Given the description of an element on the screen output the (x, y) to click on. 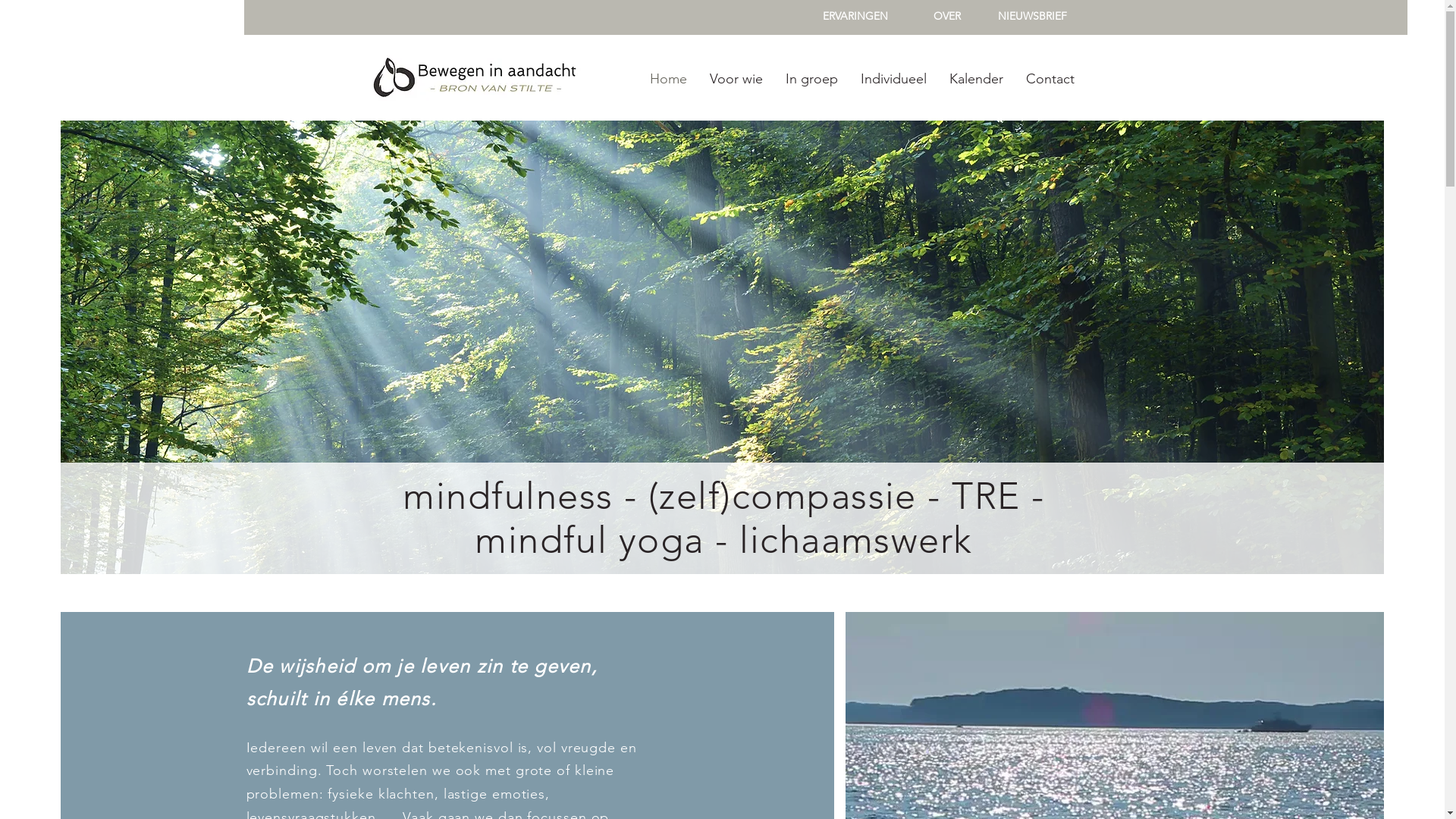
Kalender Element type: text (975, 78)
NIEUWSBRIEF Element type: text (1032, 16)
OVER Element type: text (946, 16)
Voor wie Element type: text (735, 78)
ERVARINGEN Element type: text (855, 16)
Contact Element type: text (1049, 78)
Home Element type: text (668, 78)
